Given the description of an element on the screen output the (x, y) to click on. 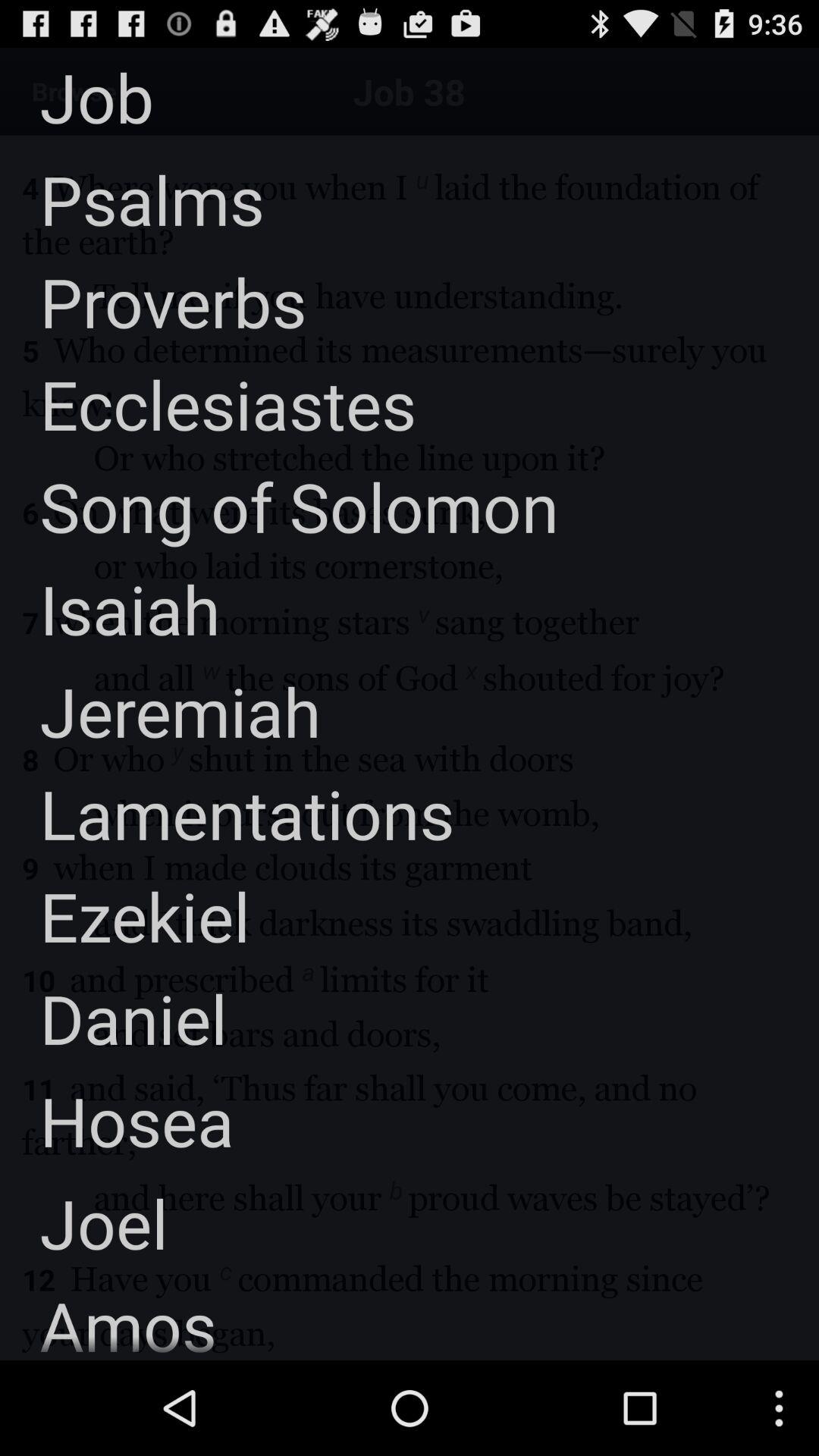
choose the item above the jeremiah app (110, 608)
